Given the description of an element on the screen output the (x, y) to click on. 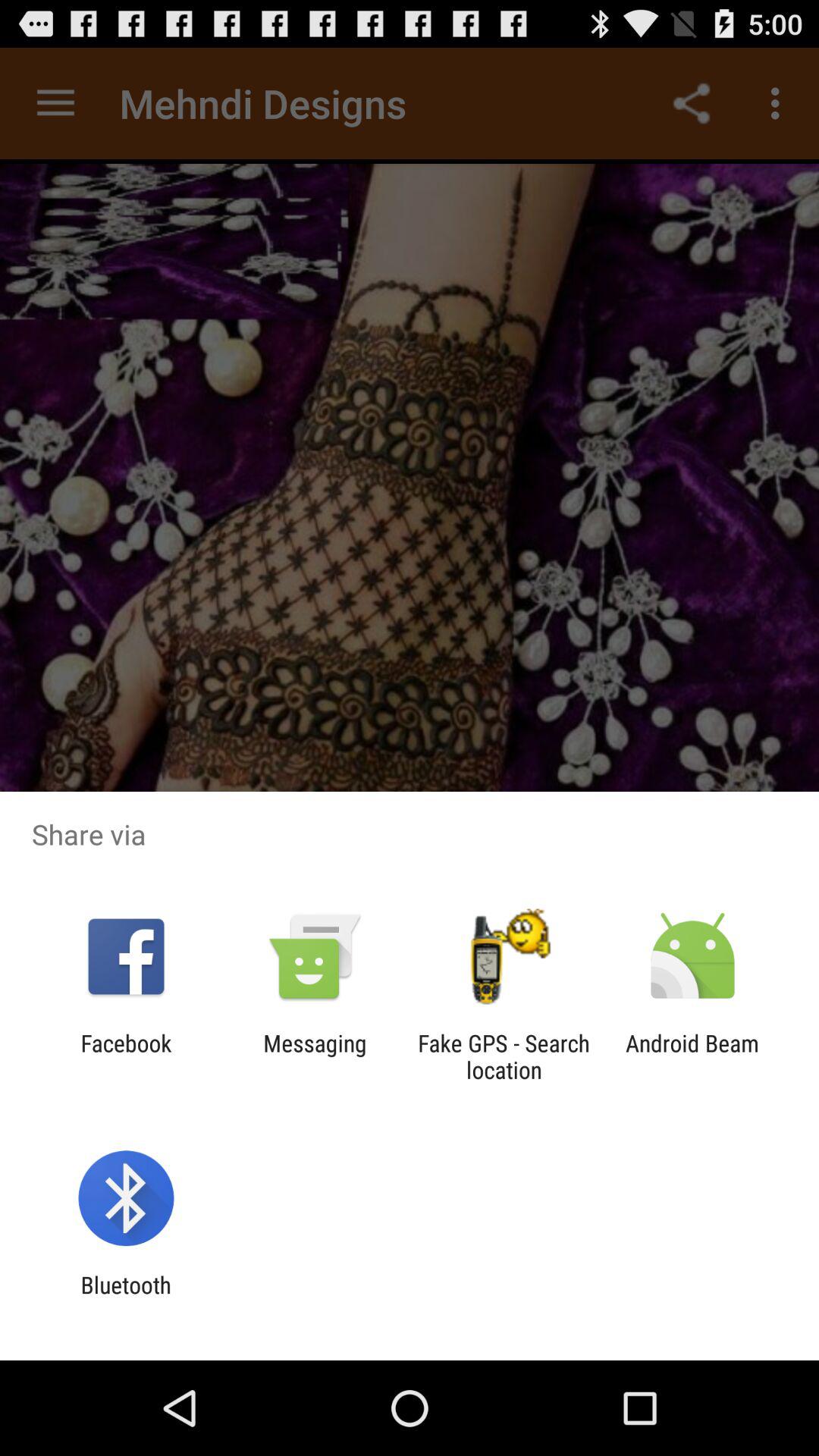
tap the app to the left of fake gps search (314, 1056)
